Given the description of an element on the screen output the (x, y) to click on. 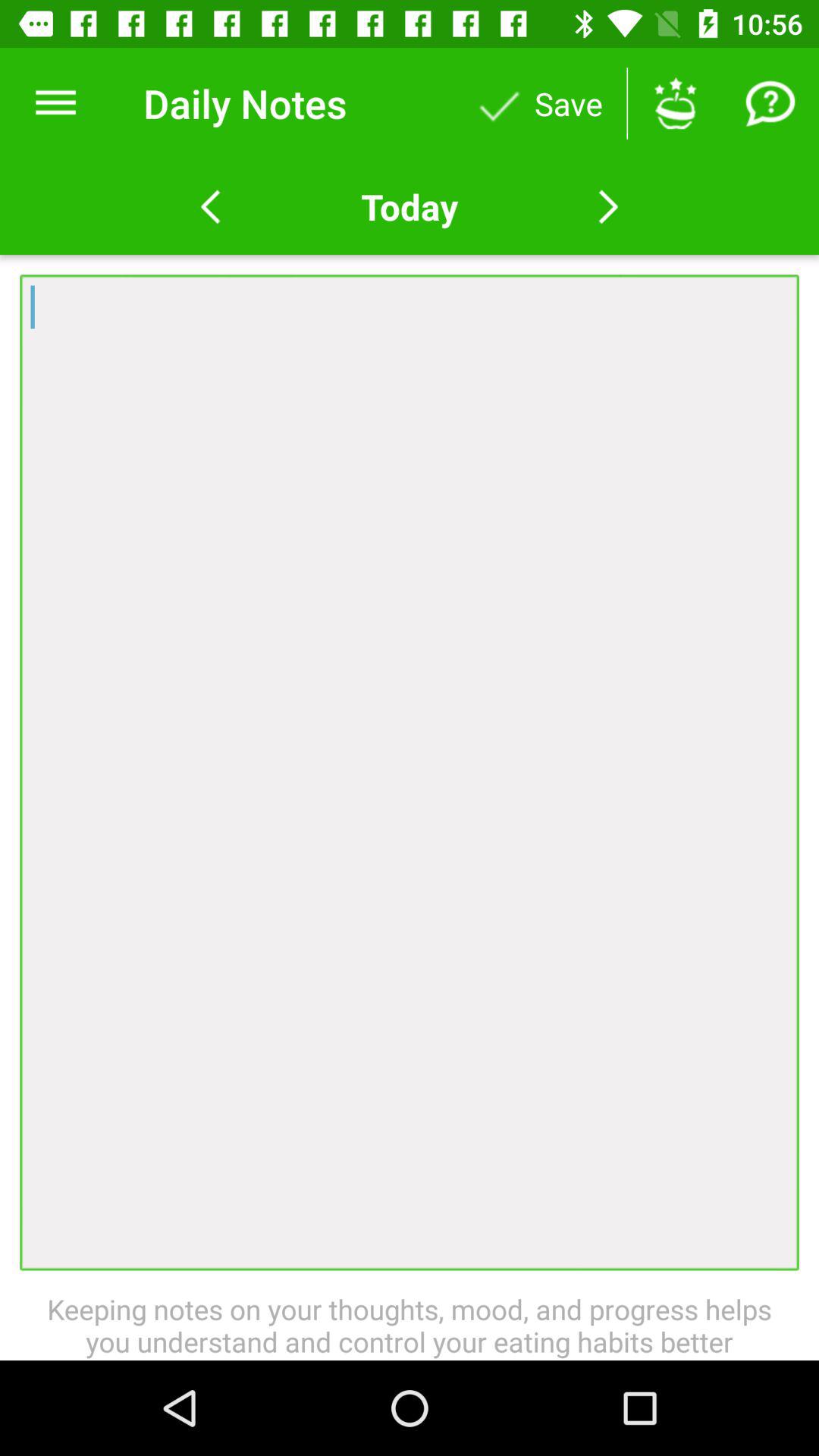
previous day (210, 206)
